Given the description of an element on the screen output the (x, y) to click on. 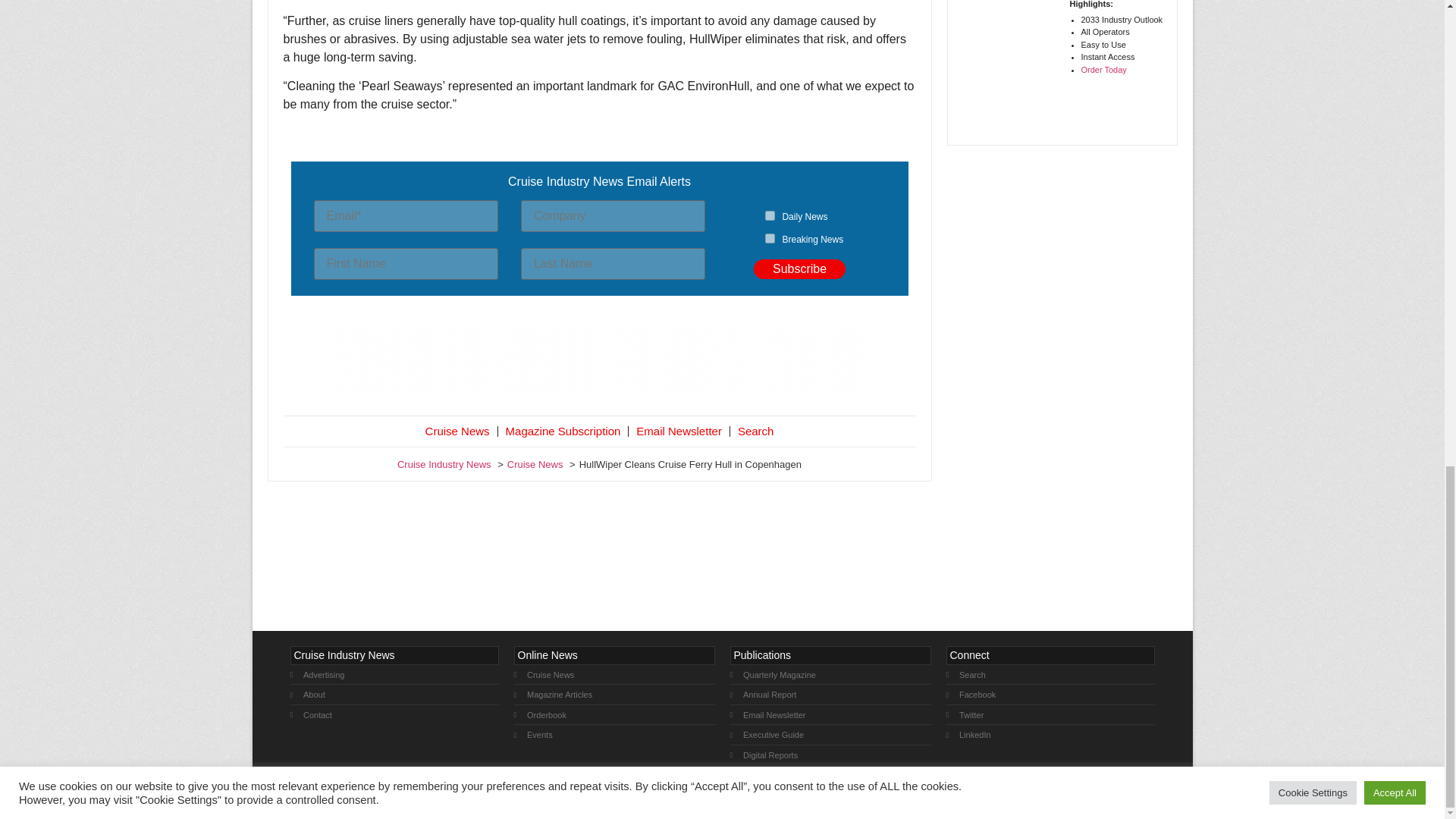
3rd party ad content (599, 358)
1 (769, 215)
2 (769, 238)
Subscribe (799, 269)
